Given the description of an element on the screen output the (x, y) to click on. 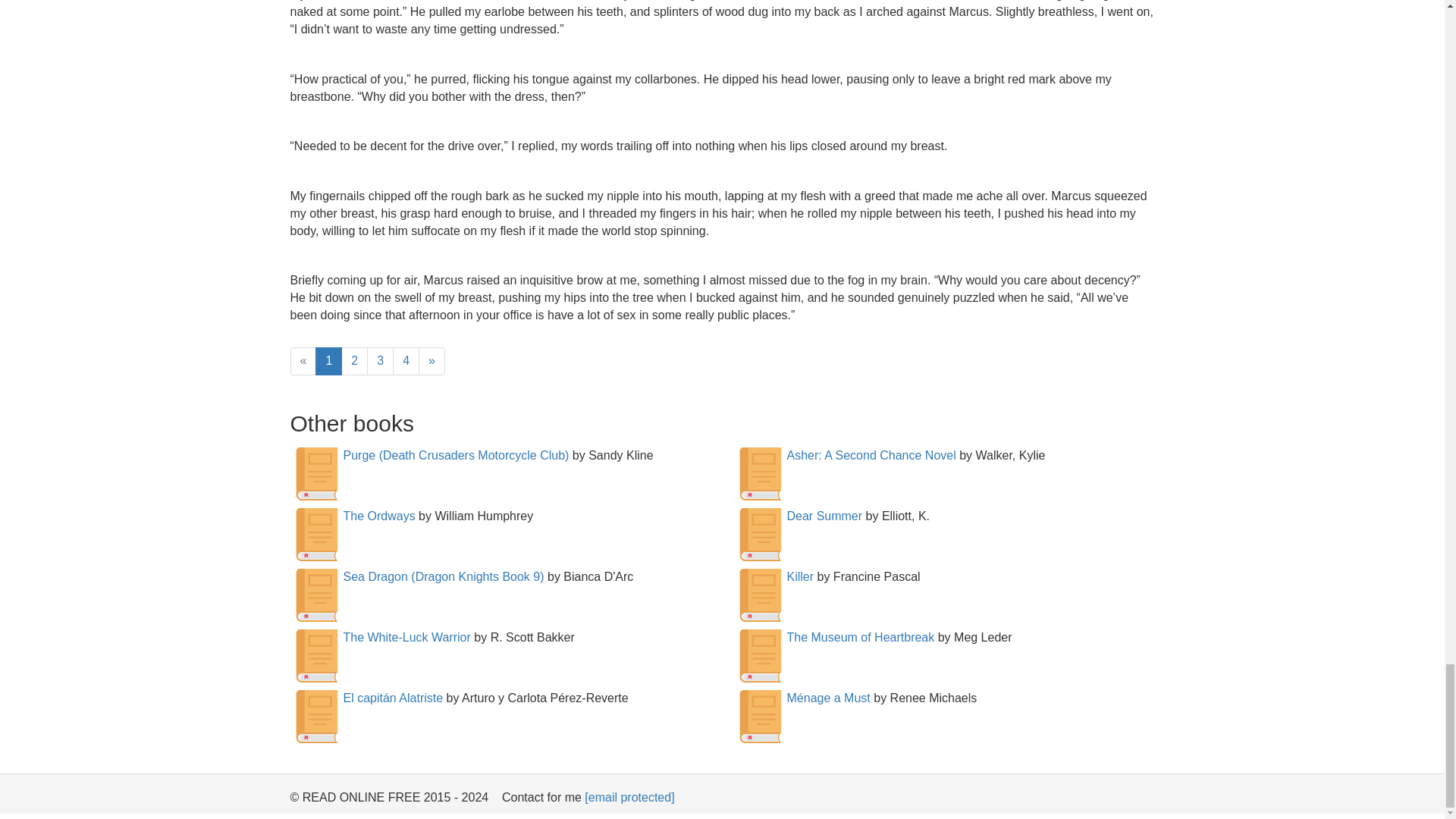
3 (379, 361)
2 (354, 361)
Killer (800, 576)
Asher: A Second Chance Novel (871, 454)
The White-Luck Warrior (406, 636)
Dear Summer (825, 515)
1 (328, 361)
The Ordways (378, 515)
4 (406, 361)
The Museum of Heartbreak (860, 636)
